Given the description of an element on the screen output the (x, y) to click on. 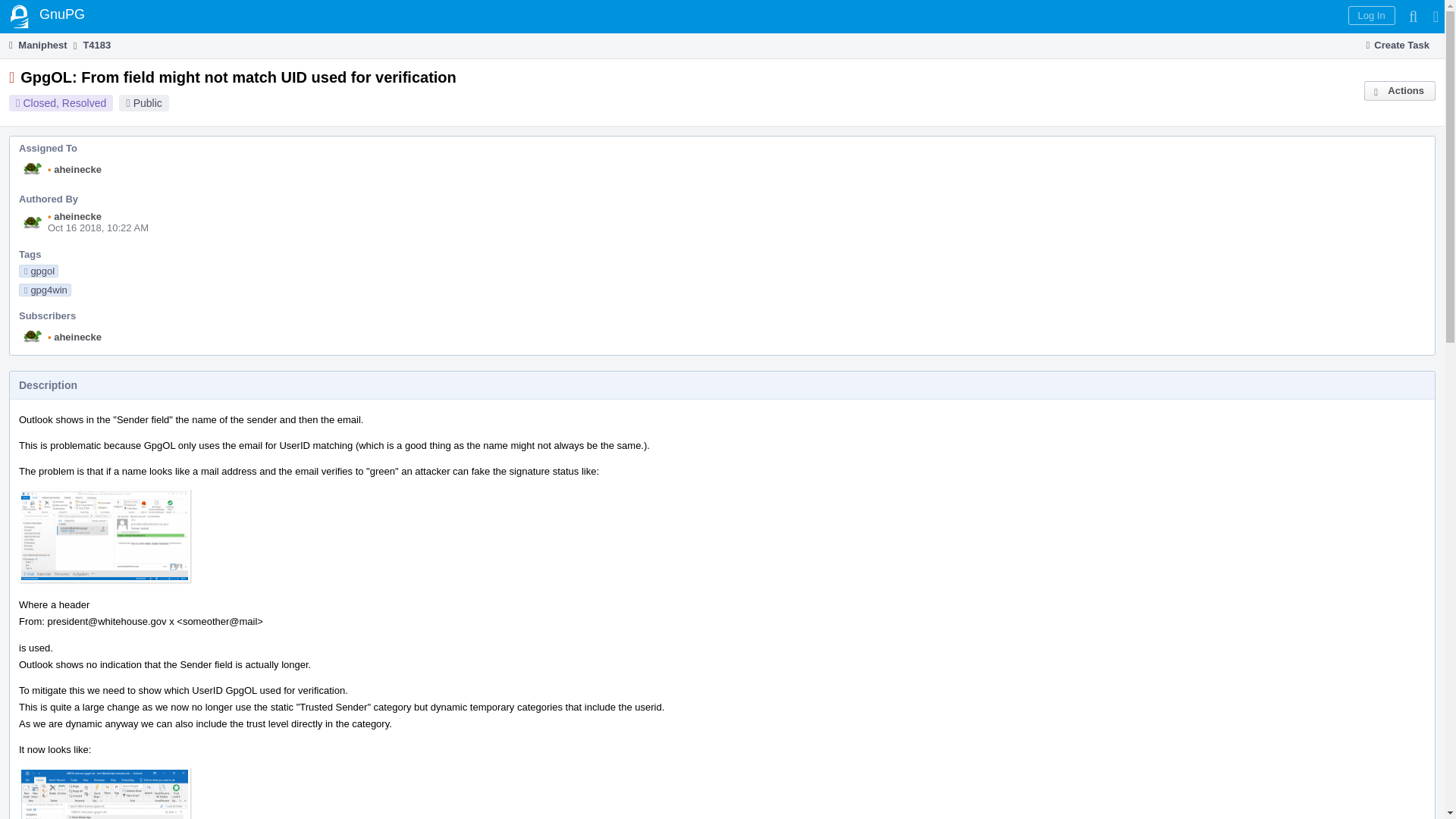
Log In (1371, 15)
Create Task (1397, 45)
gpgol (38, 270)
Public (147, 102)
Actions (1399, 90)
gpg4win (44, 289)
Maniphest (35, 44)
GnuPG (47, 16)
